Given the description of an element on the screen output the (x, y) to click on. 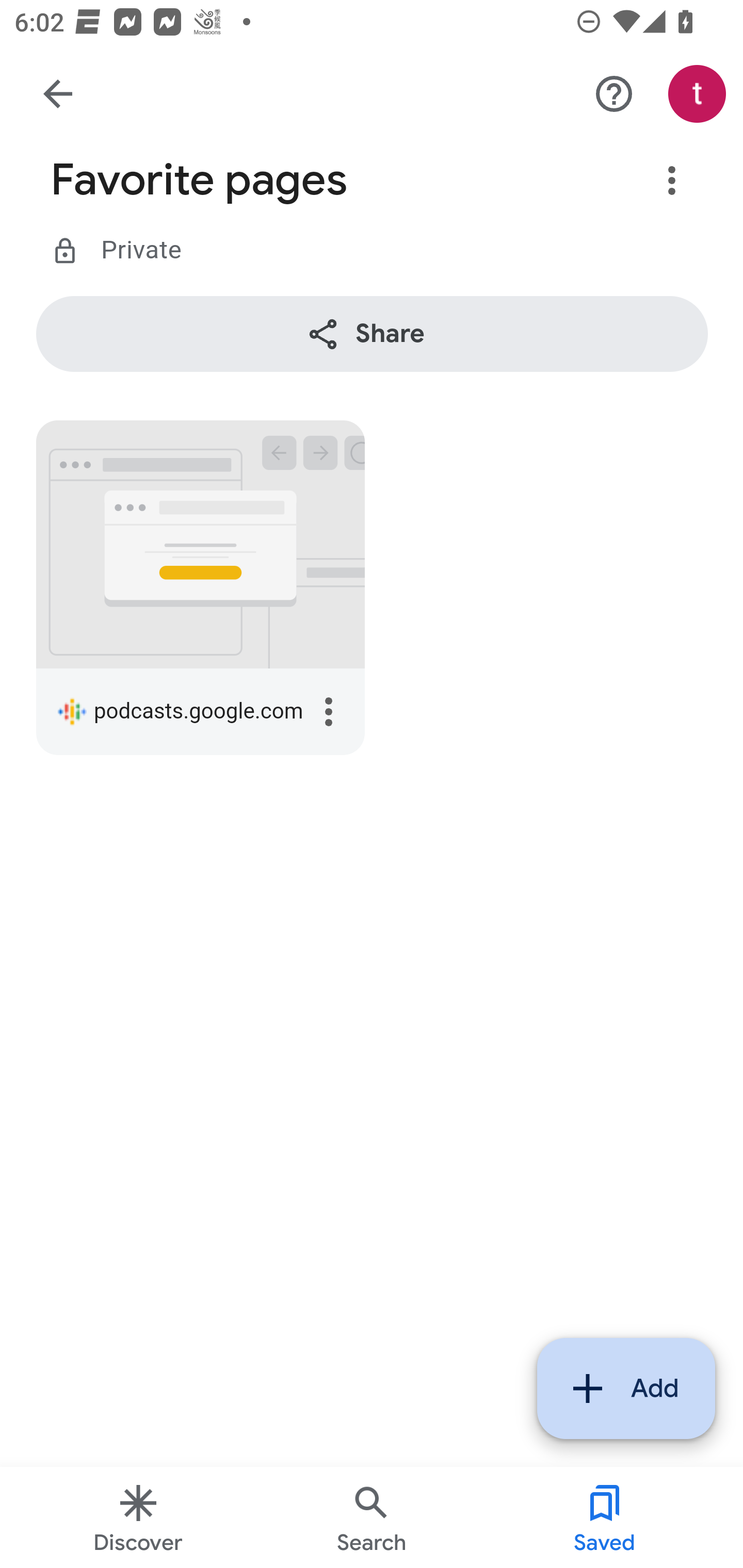
Go back (58, 93)
More options (614, 94)
More options (672, 180)
Share (372, 333)
More options (329, 712)
Add (626, 1388)
Discover (137, 1517)
Search (371, 1517)
